Given the description of an element on the screen output the (x, y) to click on. 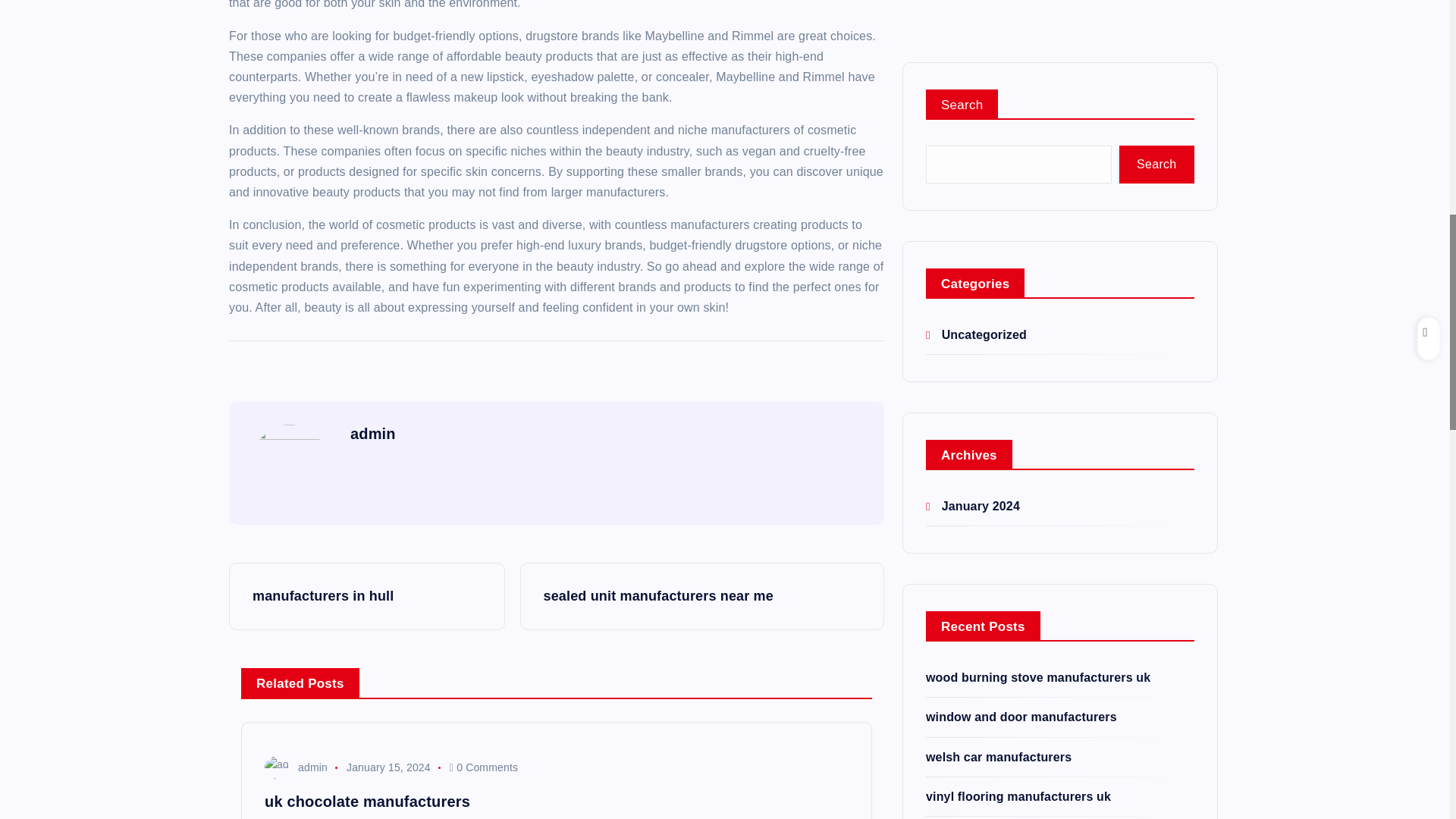
sealed unit manufacturers near me (702, 595)
wood burning stove manufacturers uk (1038, 210)
manufacturers in hull (366, 595)
January 2024 (973, 38)
admin (295, 767)
admin (373, 433)
window and door manufacturers (1021, 249)
welsh car manufacturers (998, 289)
